Given the description of an element on the screen output the (x, y) to click on. 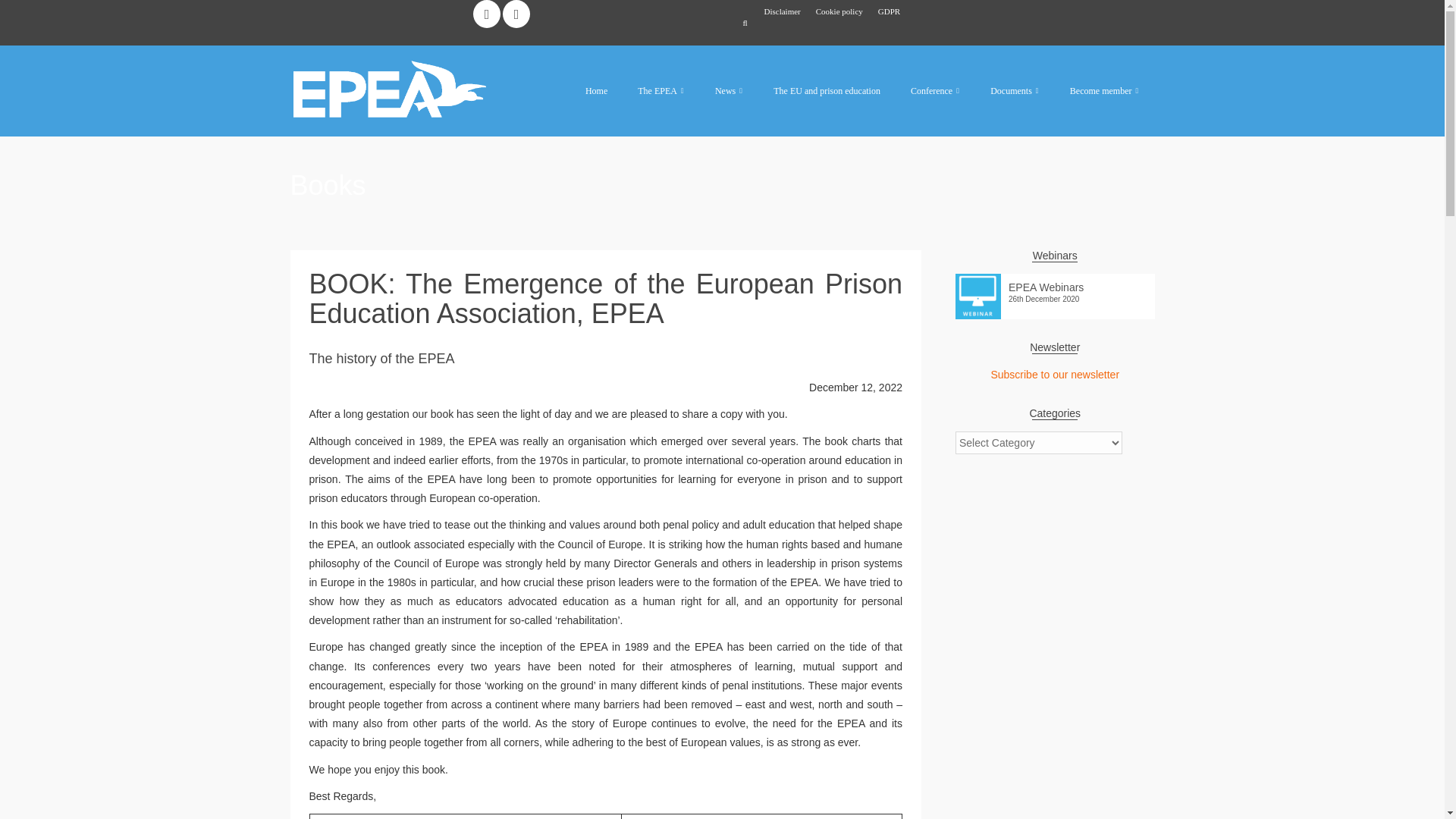
Disclaimer (782, 11)
GDPR (888, 11)
Cookie policy (839, 11)
EPEA Webinars (1054, 283)
Twitter (515, 13)
Facebook (486, 13)
